Given the description of an element on the screen output the (x, y) to click on. 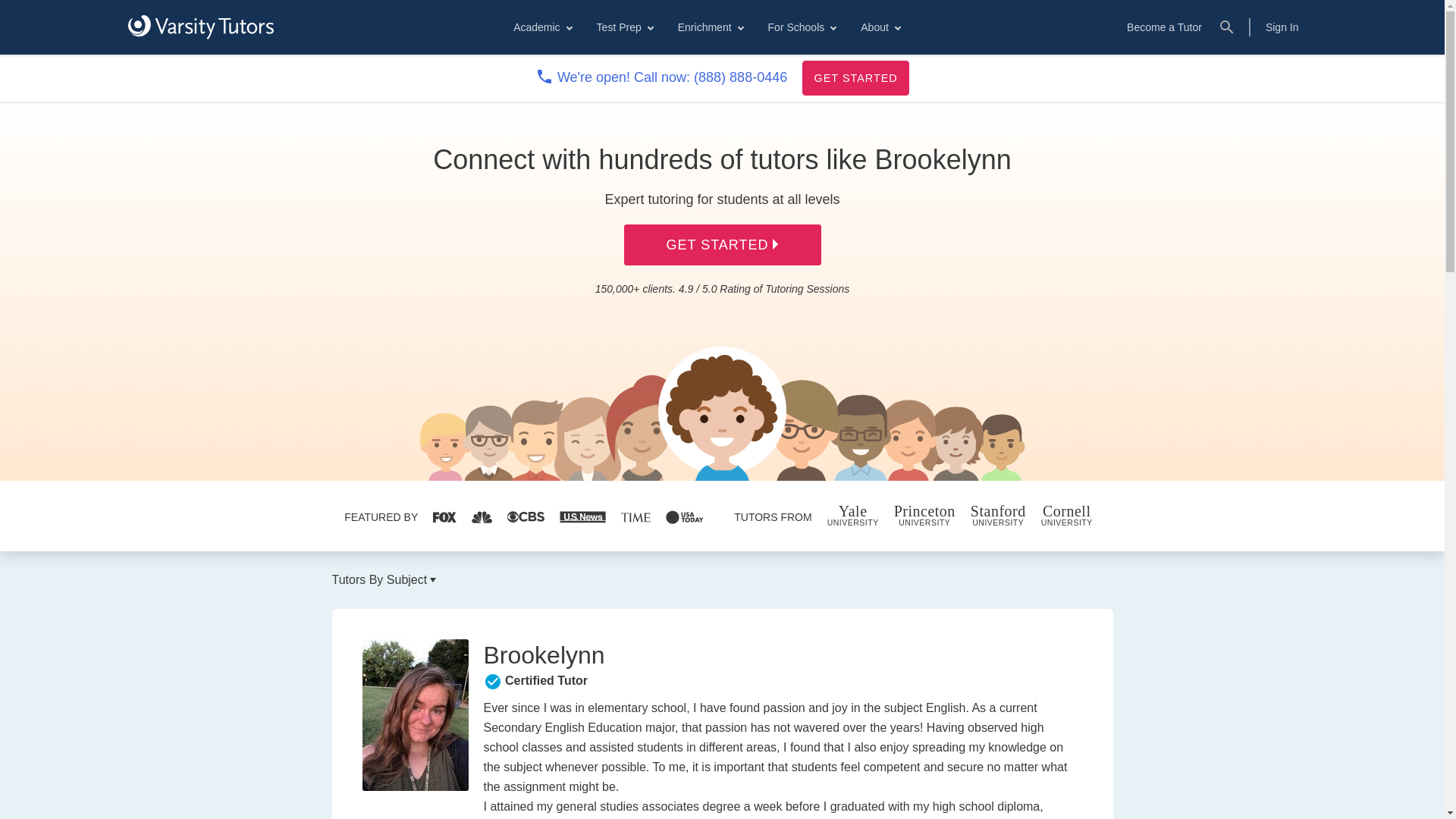
Academic (541, 27)
GET STARTED (855, 77)
Varsity Tutors (200, 26)
Varsity Tutors (200, 27)
